Given the description of an element on the screen output the (x, y) to click on. 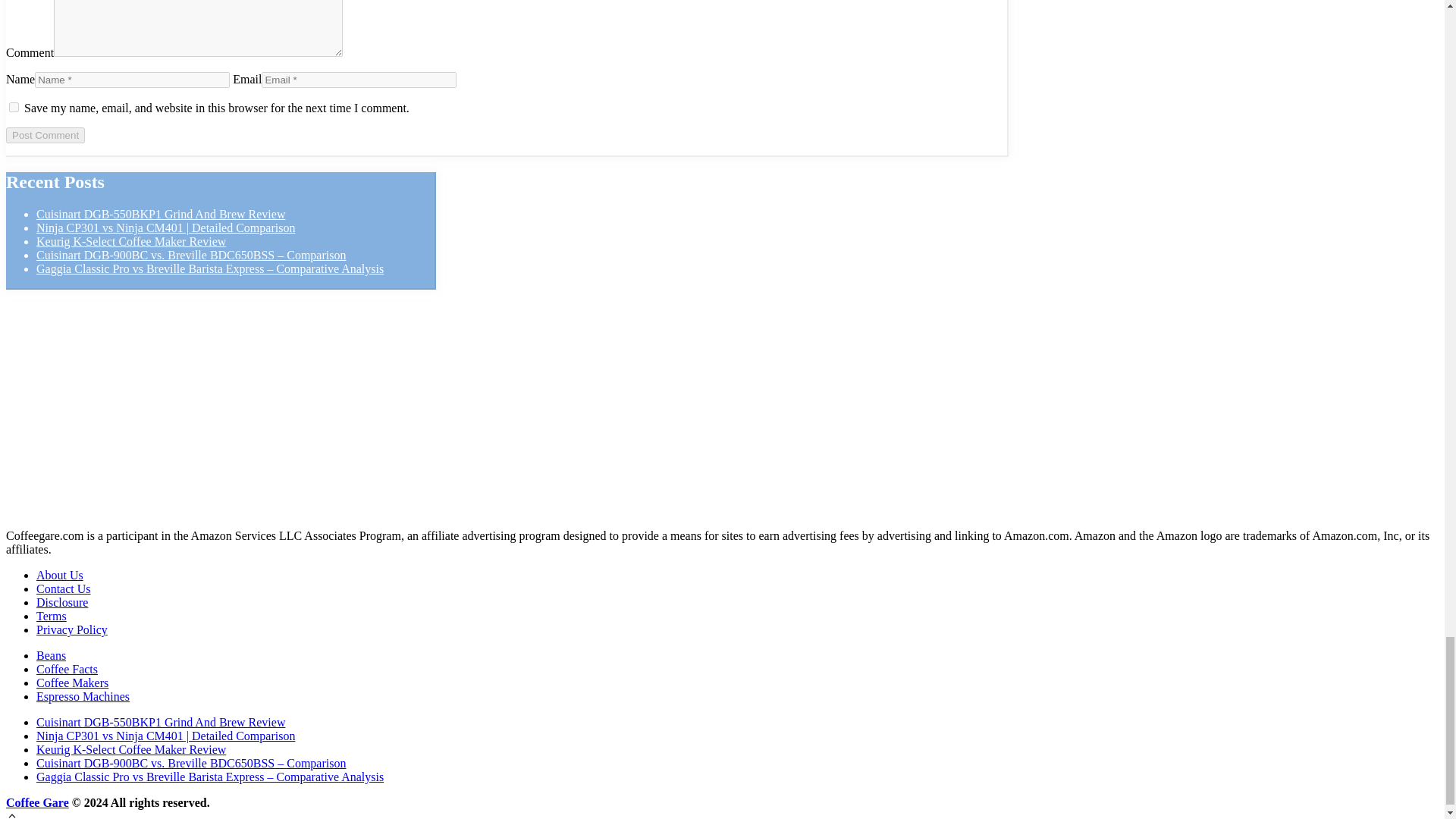
Post Comment (44, 135)
yes (13, 107)
